Given the description of an element on the screen output the (x, y) to click on. 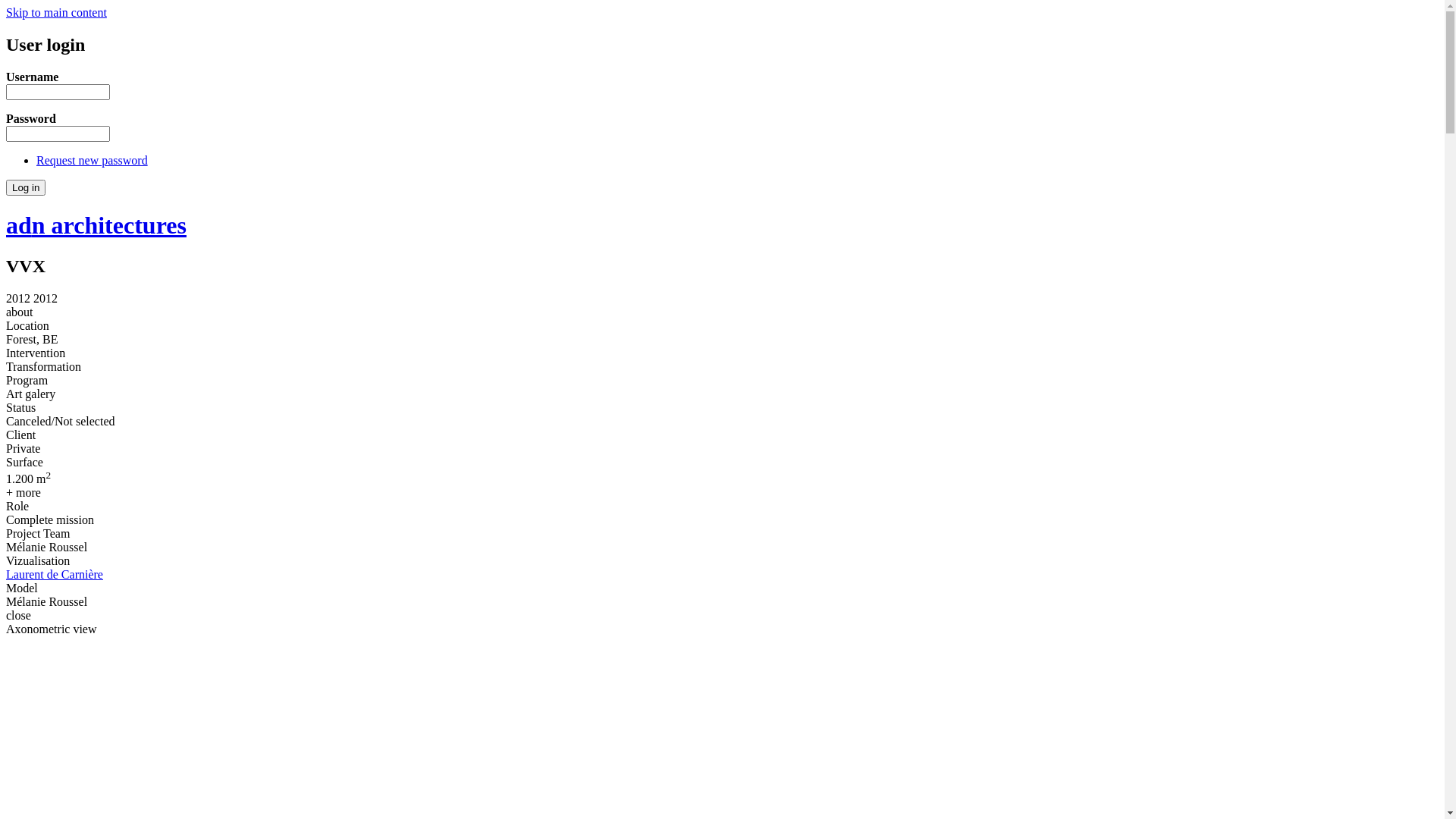
adn architectures Element type: text (96, 224)
+ more Element type: text (23, 492)
close Element type: text (18, 614)
Log in Element type: text (25, 187)
Skip to main content Element type: text (56, 12)
Request new password Element type: text (91, 159)
